Given the description of an element on the screen output the (x, y) to click on. 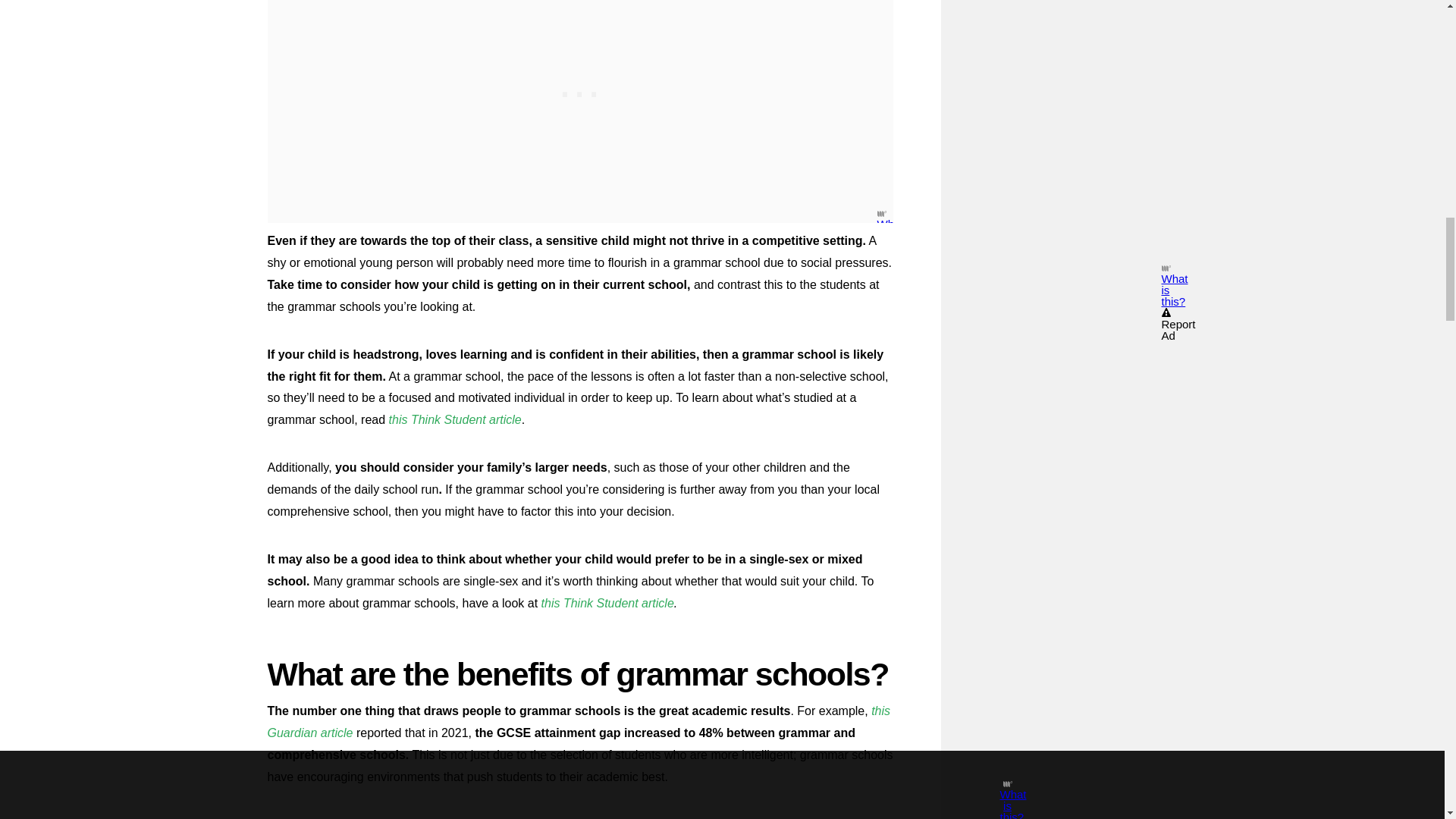
this Think Student article (454, 419)
this Guardian article (577, 721)
this Think Student article (607, 603)
